Given the description of an element on the screen output the (x, y) to click on. 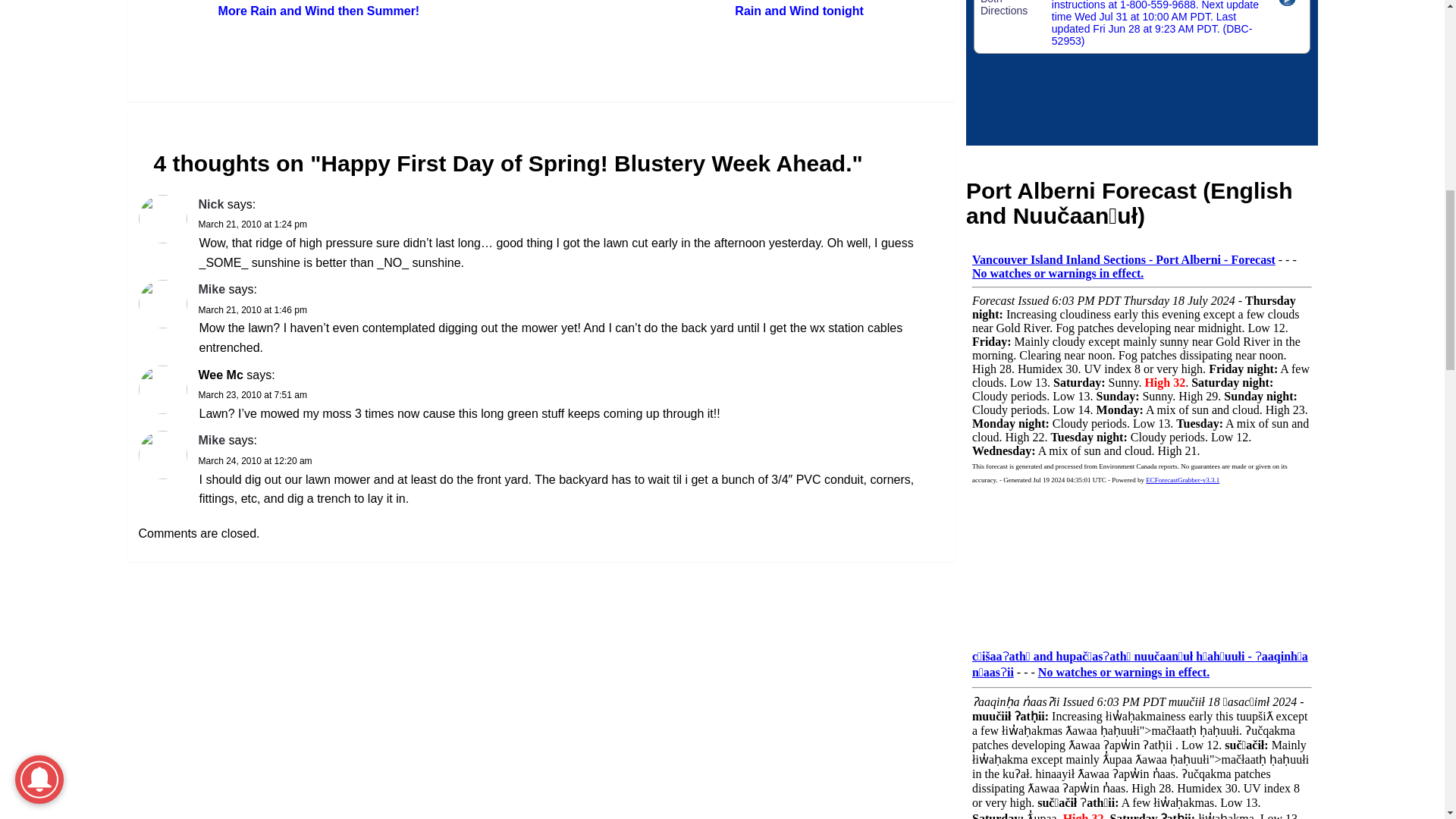
BC Highway 4 (1141, 72)
